Given the description of an element on the screen output the (x, y) to click on. 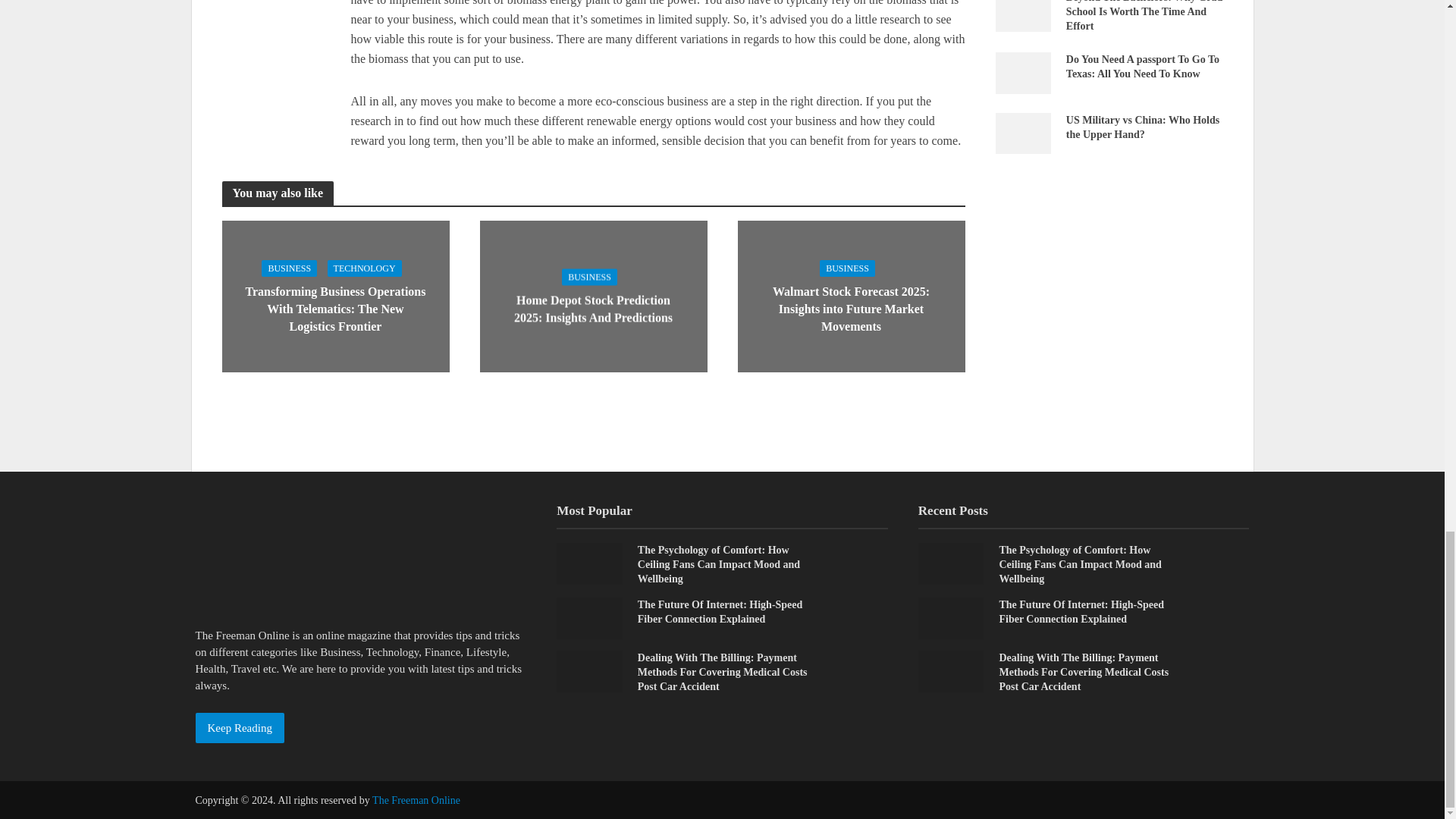
Home Depot Stock Prediction 2025: Insights And Predictions (592, 294)
